Given the description of an element on the screen output the (x, y) to click on. 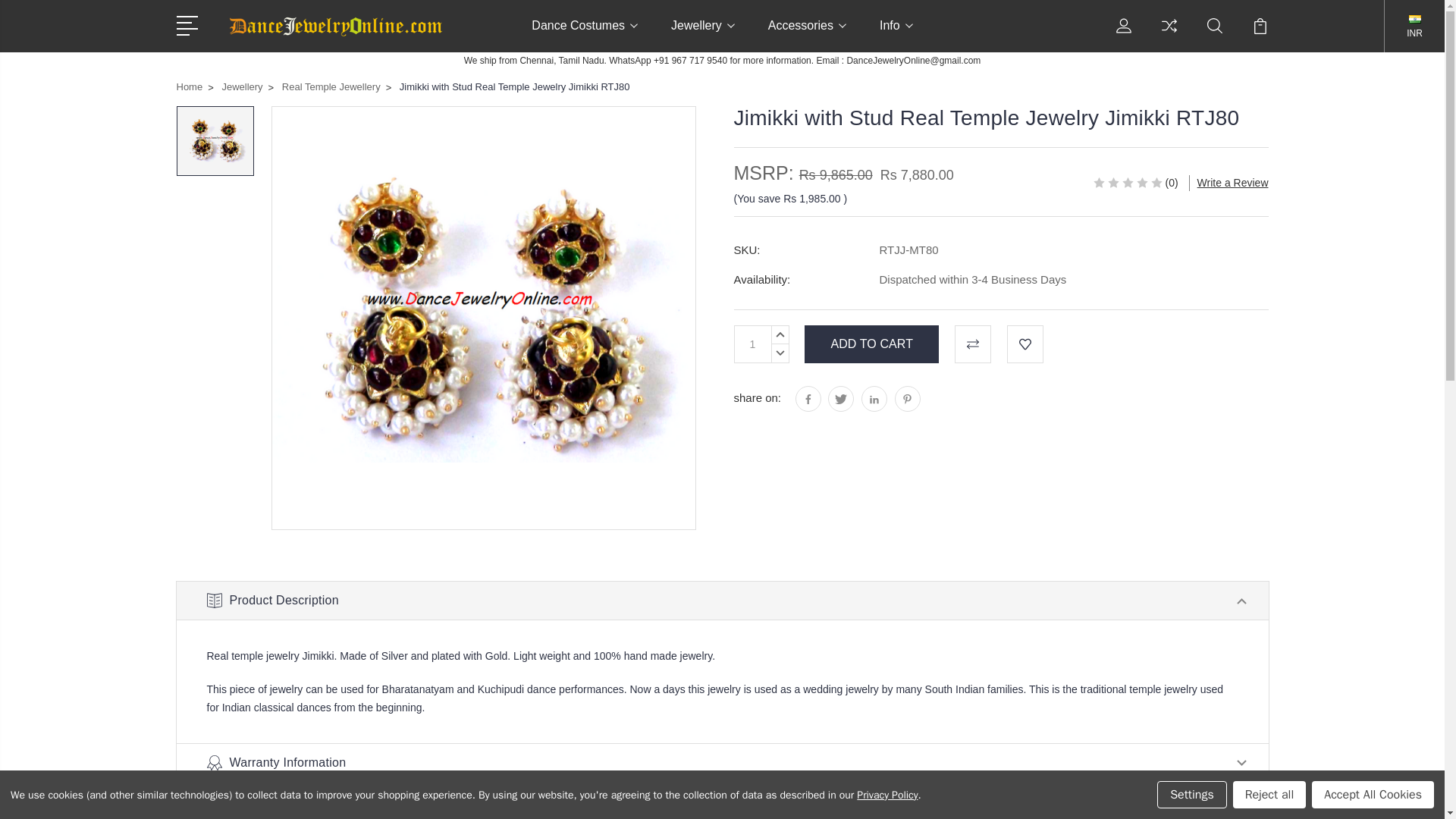
Dance Costumes (584, 34)
1 (752, 344)
Real Temple Jewellery (214, 140)
Accessories (806, 34)
Add to Cart (872, 344)
Info (895, 34)
DanceJewelryOnline.com (334, 26)
Jewellery (703, 34)
Real Temple Jewellery (483, 316)
